Given the description of an element on the screen output the (x, y) to click on. 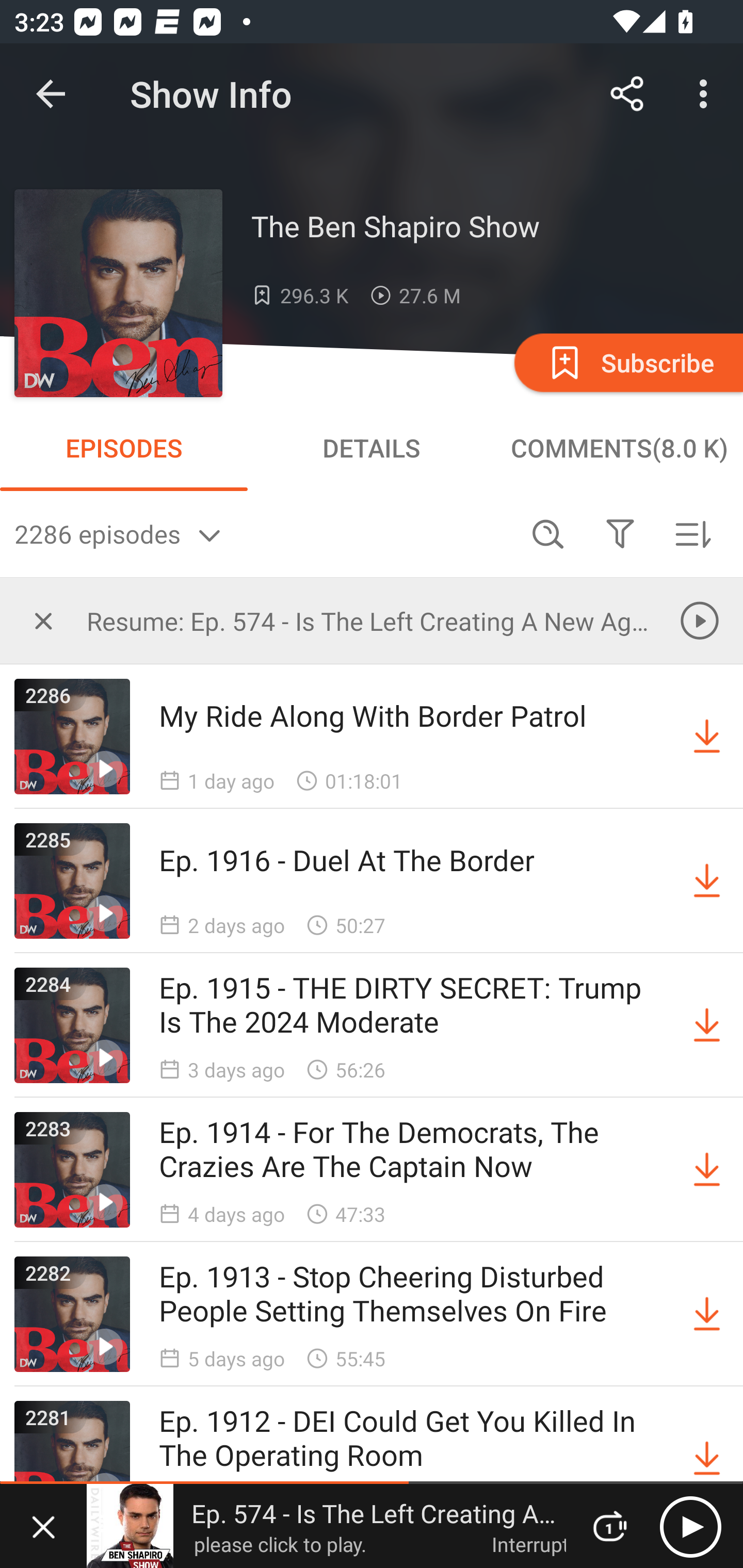
Navigate up (50, 93)
Share (626, 93)
More options (706, 93)
Subscribe (627, 361)
EPISODES (123, 447)
DETAILS (371, 447)
COMMENTS(8.0 K) (619, 447)
2286 episodes  (262, 533)
 Search (547, 533)
 (619, 533)
 Sorted by newest first (692, 533)
 (43, 620)
Download (706, 736)
Download (706, 881)
Download (706, 1025)
Download (706, 1169)
Download (706, 1313)
Download (706, 1458)
Play (690, 1526)
